Given the description of an element on the screen output the (x, y) to click on. 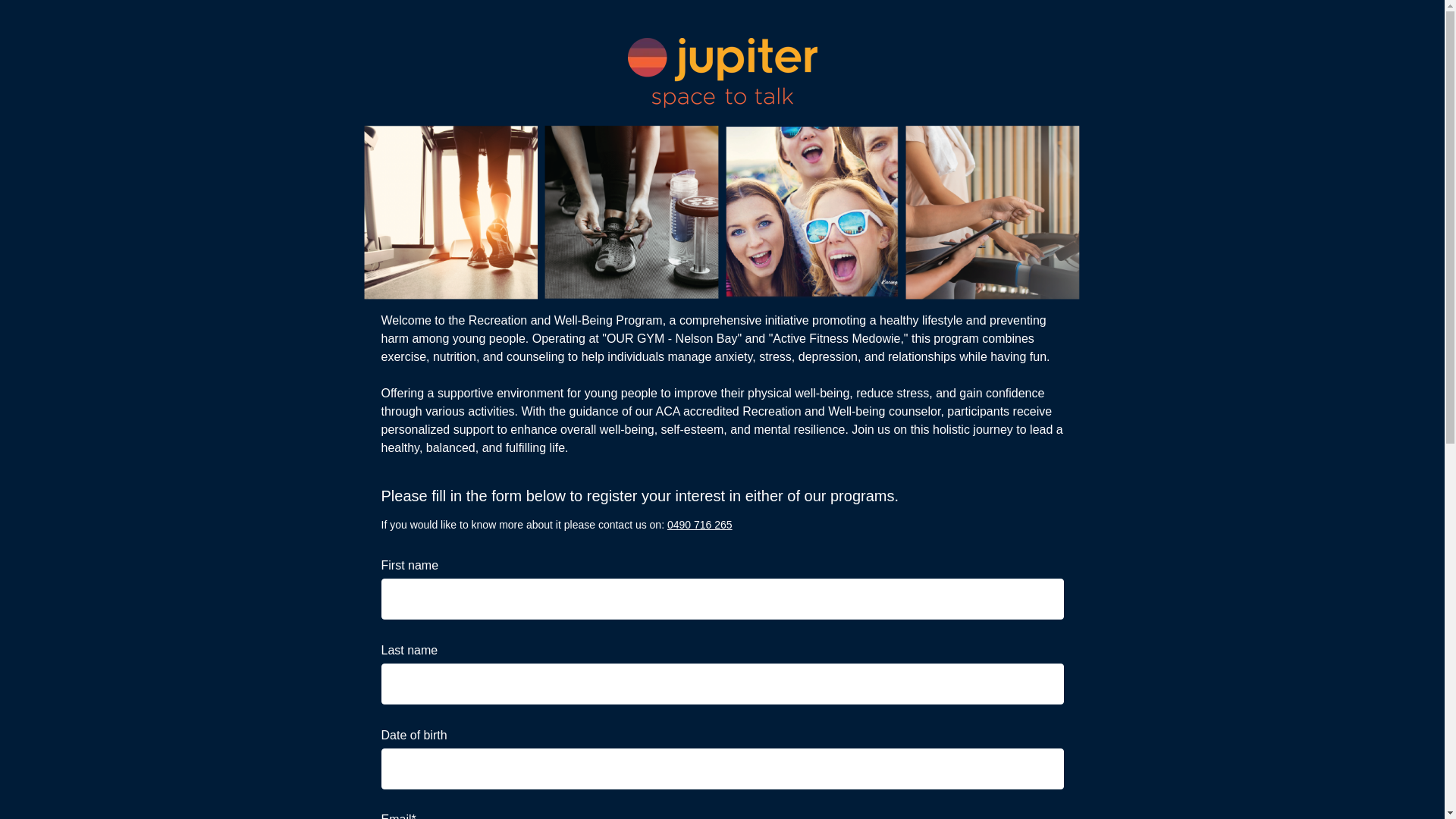
0490 716 265 Element type: text (699, 524)
logo_new Element type: hover (722, 72)
rec and well-being banner image Element type: hover (721, 210)
